Given the description of an element on the screen output the (x, y) to click on. 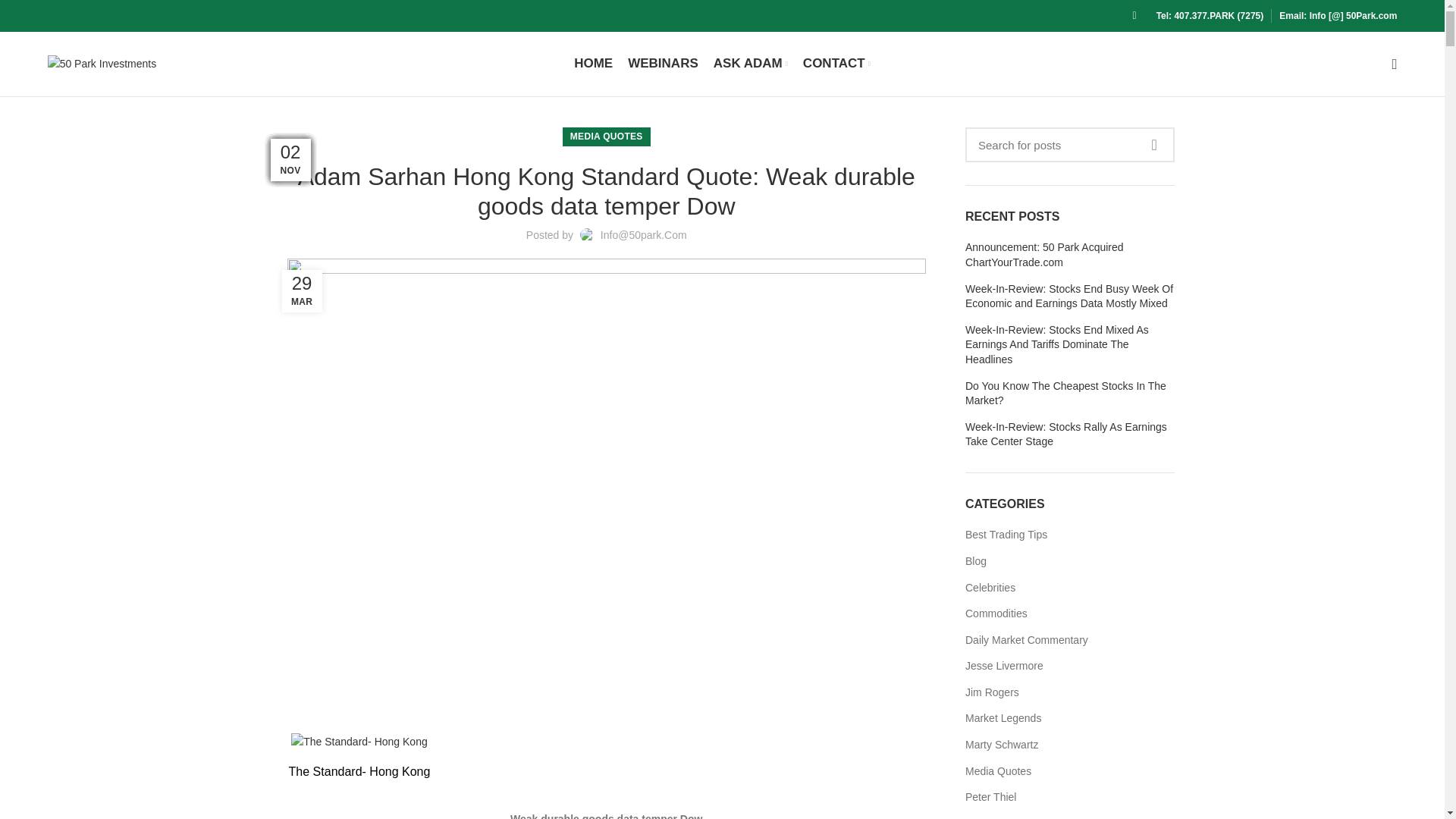
ASK ADAM (750, 63)
WEBINARS (663, 63)
MEDIA QUOTES (606, 136)
HOME (593, 63)
CONTACT (835, 63)
The Standard- Hong Kong (358, 741)
